Given the description of an element on the screen output the (x, y) to click on. 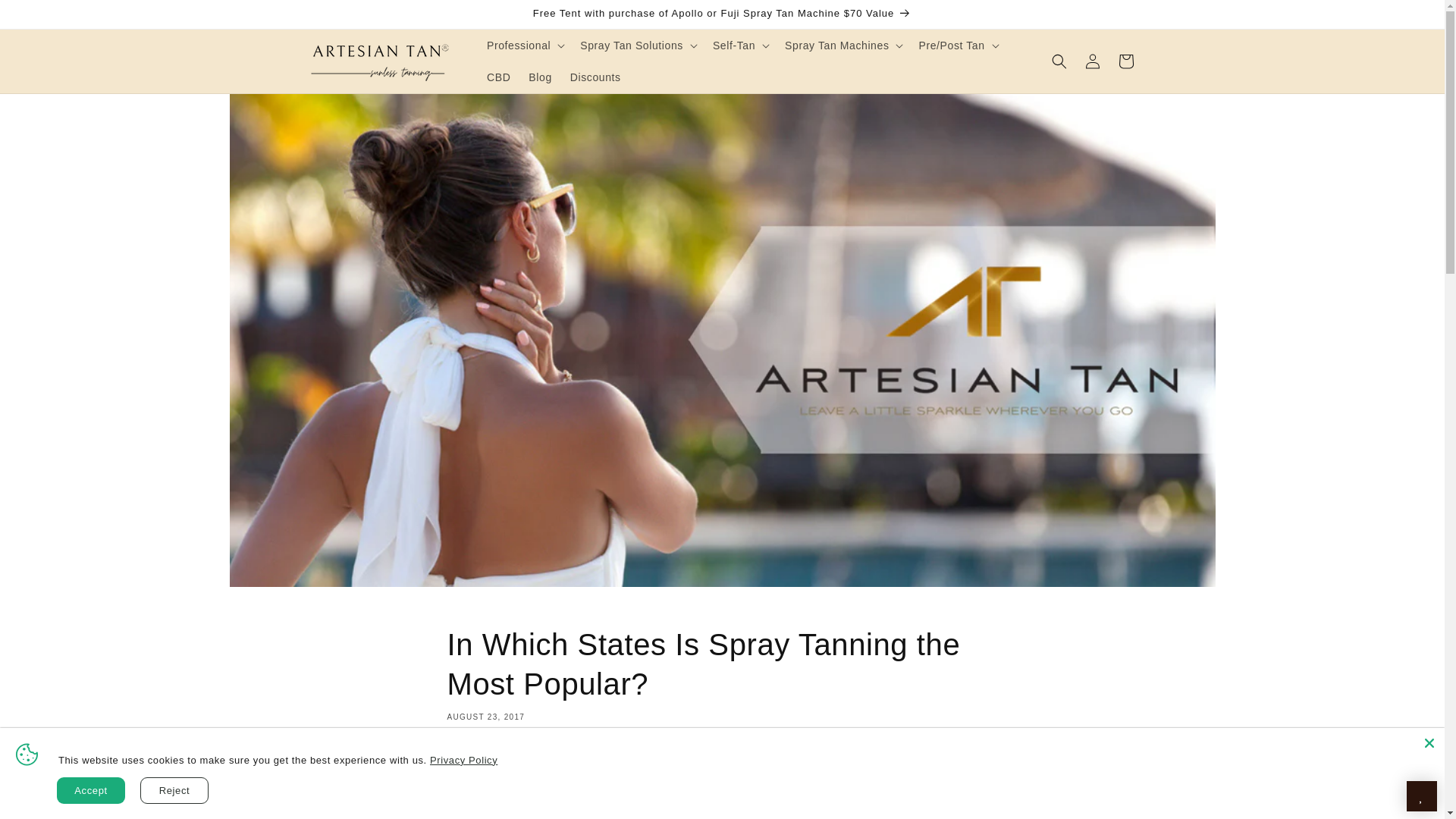
Privacy Policy (463, 759)
Skip to content (45, 17)
Share (721, 776)
